Given the description of an element on the screen output the (x, y) to click on. 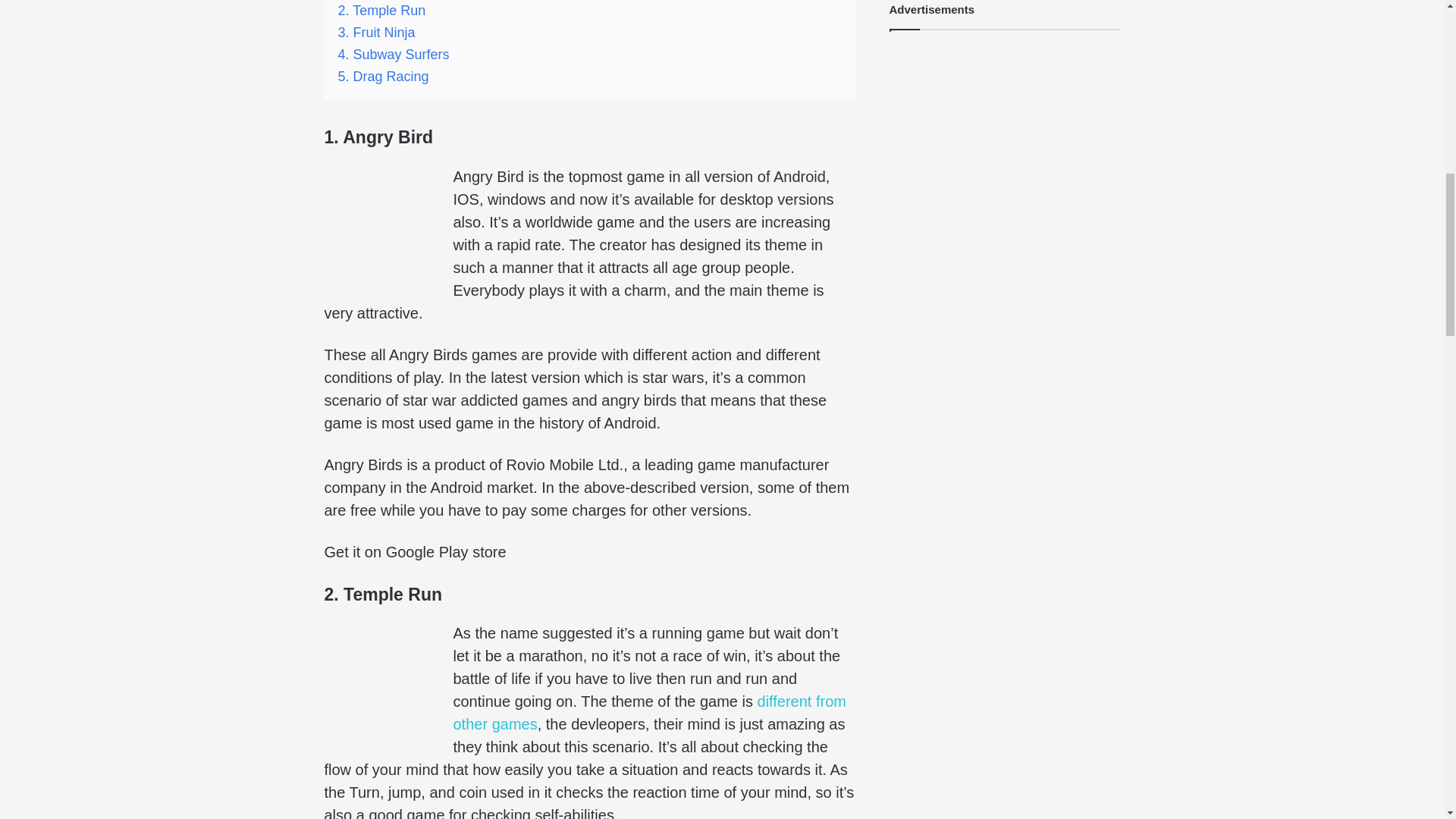
4. Subway Surfers (393, 54)
3. Fruit Ninja (375, 32)
different from other games (648, 712)
2. Temple Run (381, 10)
5. Drag Racing (383, 76)
